Given the description of an element on the screen output the (x, y) to click on. 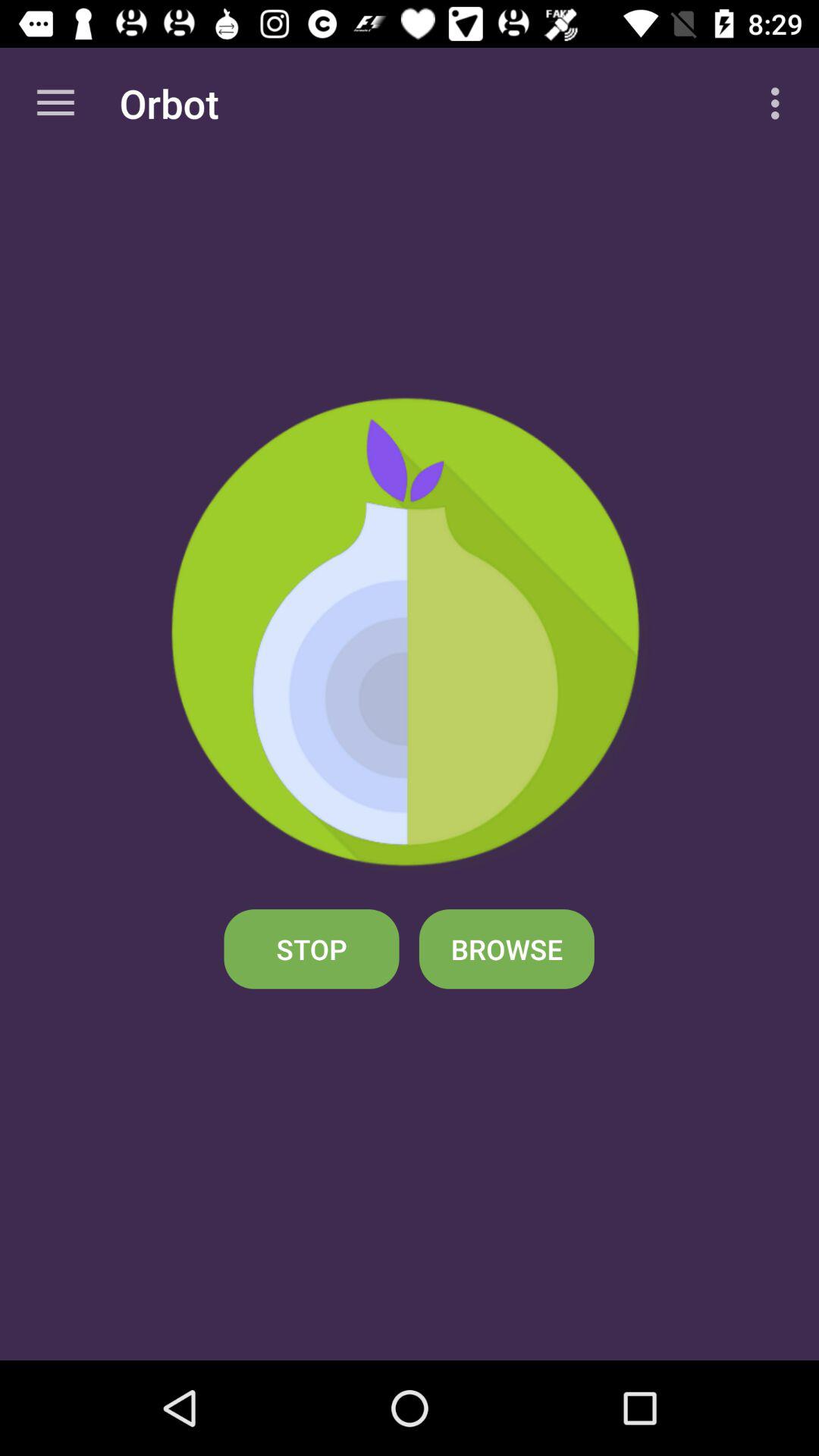
choose stop item (311, 949)
